Given the description of an element on the screen output the (x, y) to click on. 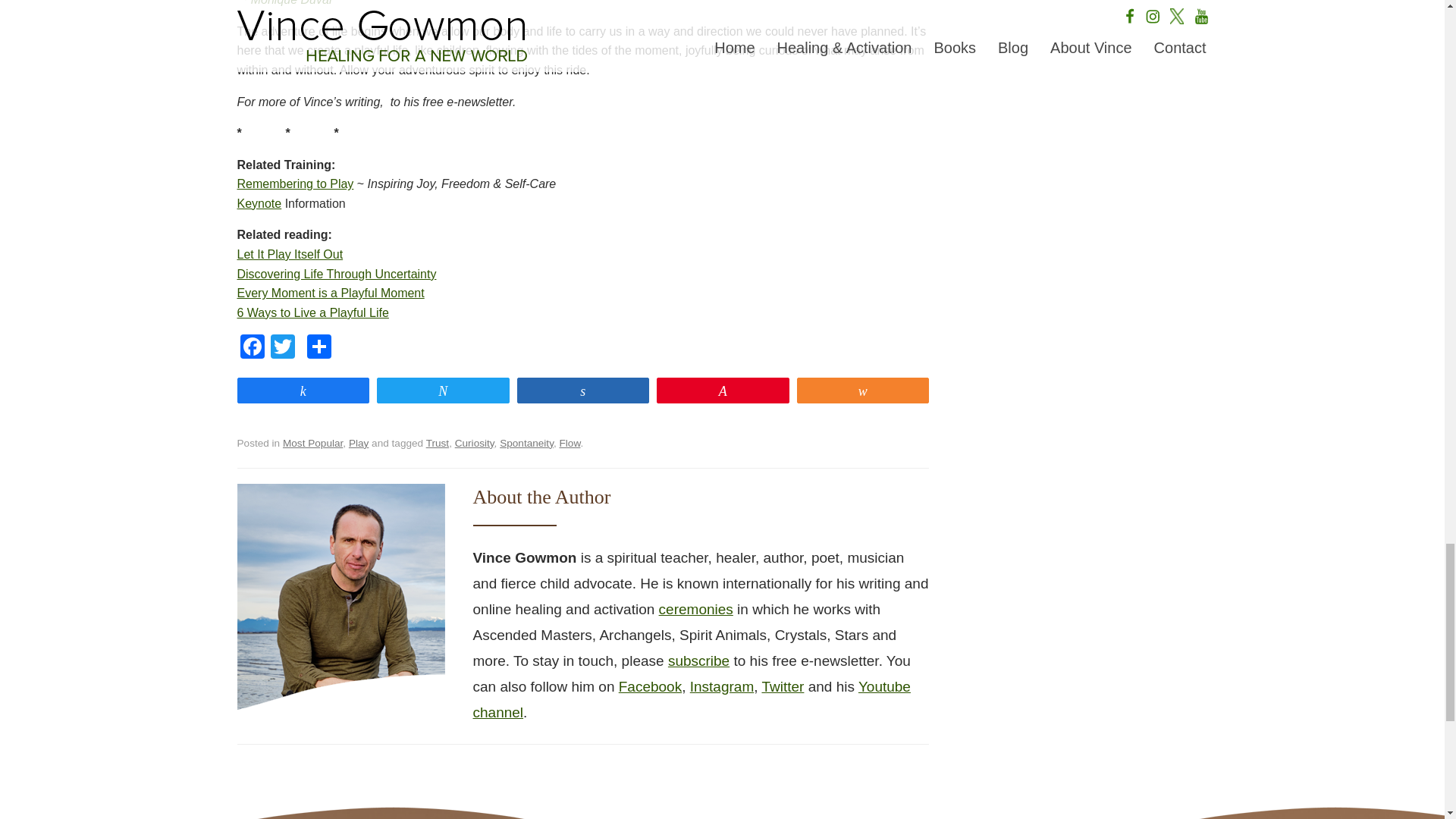
Every Moment is a Playful Moment (329, 292)
Facebook (250, 348)
Remembering to Play (294, 183)
Every Moment is a Playful Moment (329, 292)
6 Ways to Live a Playful Life (311, 312)
Twitter (281, 348)
Twitter (281, 348)
Let It Play Itself Out (288, 254)
Keynotes (258, 203)
Discovering Life Through Uncertainty (335, 273)
